Given the description of an element on the screen output the (x, y) to click on. 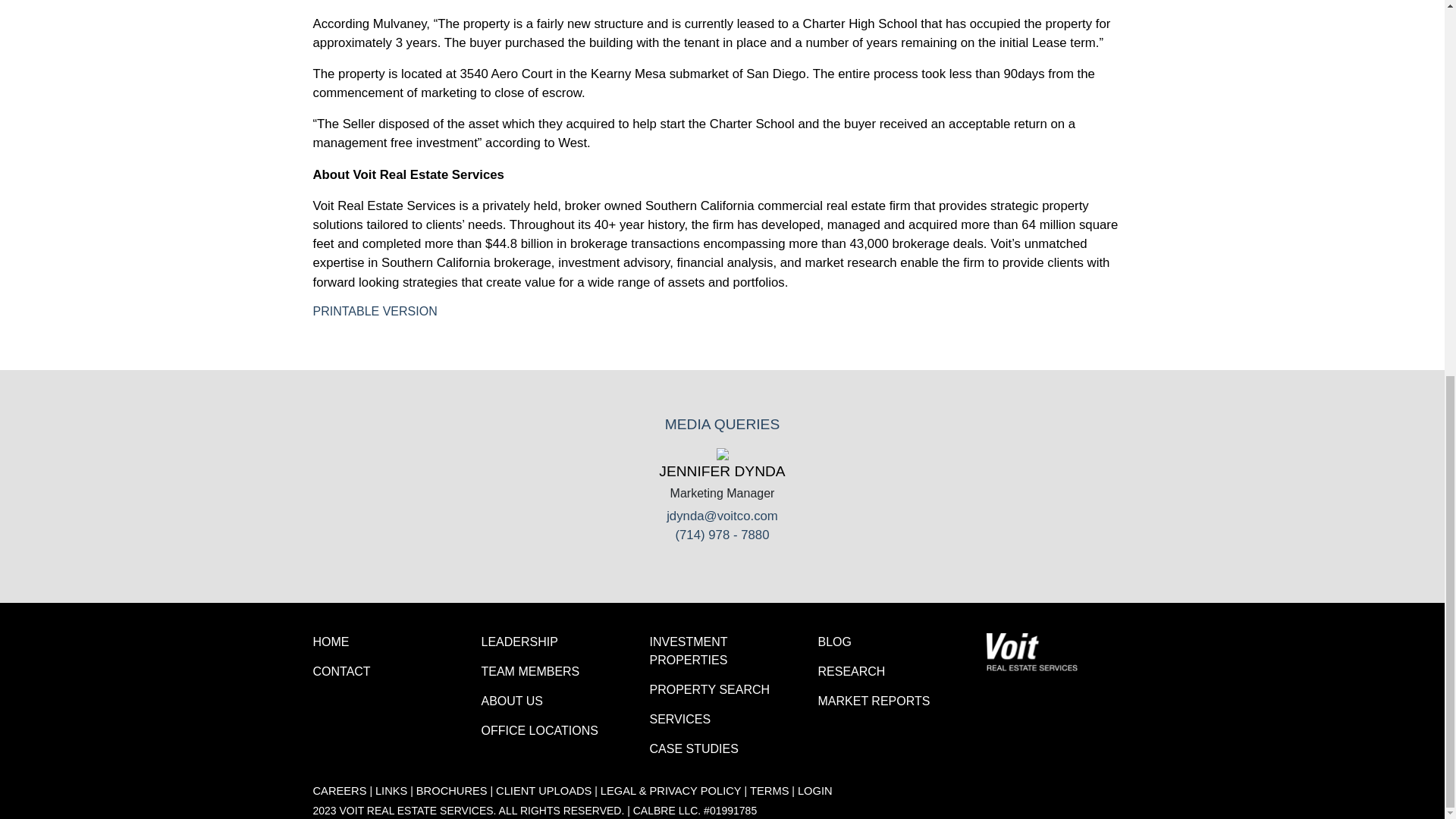
HOME (331, 641)
OFFICE LOCATIONS (538, 730)
ABOUT US (511, 700)
SERVICES (679, 718)
LEADERSHIP (518, 641)
PROPERTY SEARCH (709, 689)
BLOG (833, 641)
CASE STUDIES (693, 748)
CONTACT (341, 671)
TEAM MEMBERS (529, 671)
